Given the description of an element on the screen output the (x, y) to click on. 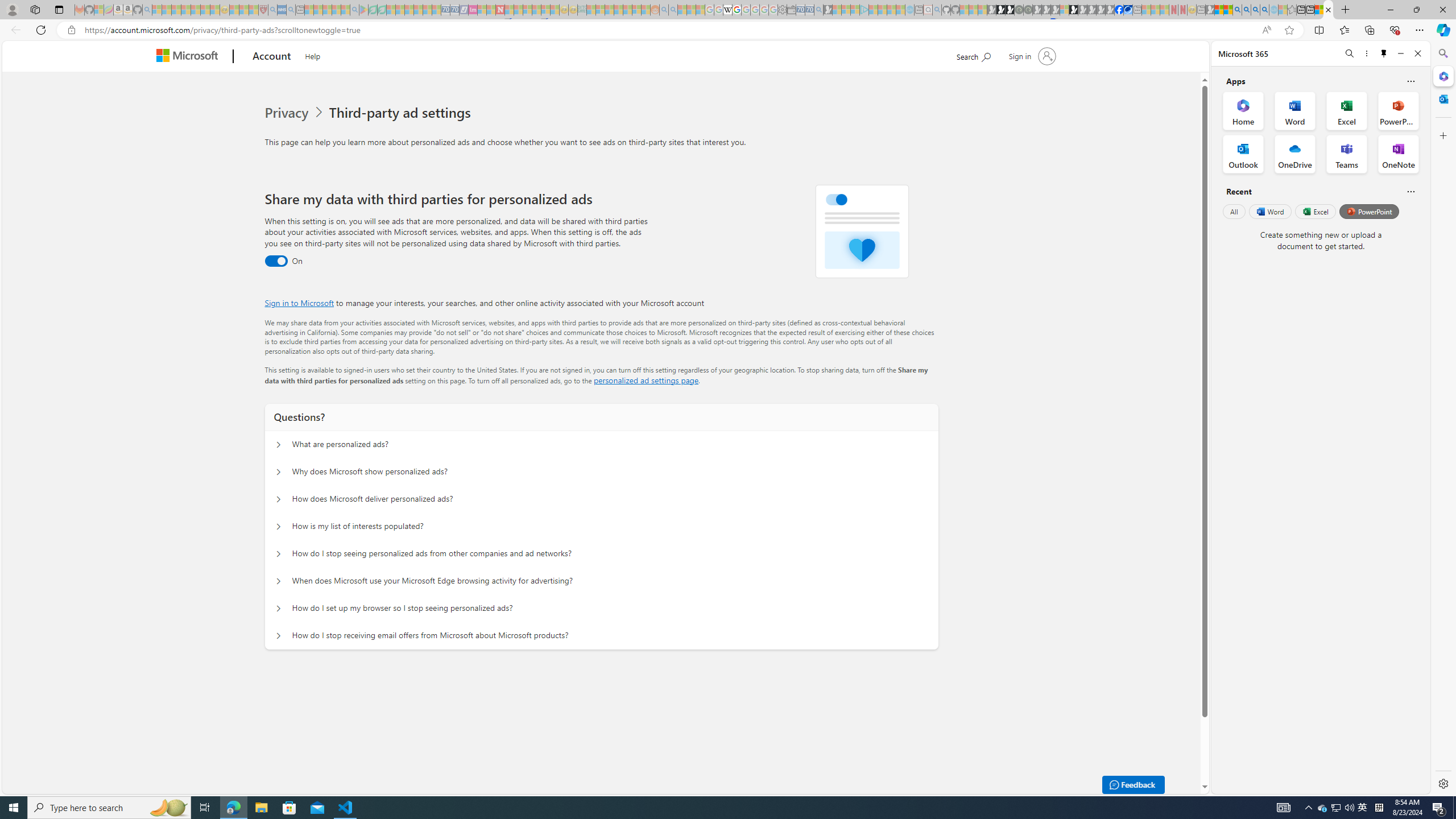
Outlook Office App (1243, 154)
OneDrive Office App (1295, 154)
Target page - Wikipedia (726, 9)
personalized ad settings page (645, 379)
Favorites - Sleeping (1291, 9)
